Given the description of an element on the screen output the (x, y) to click on. 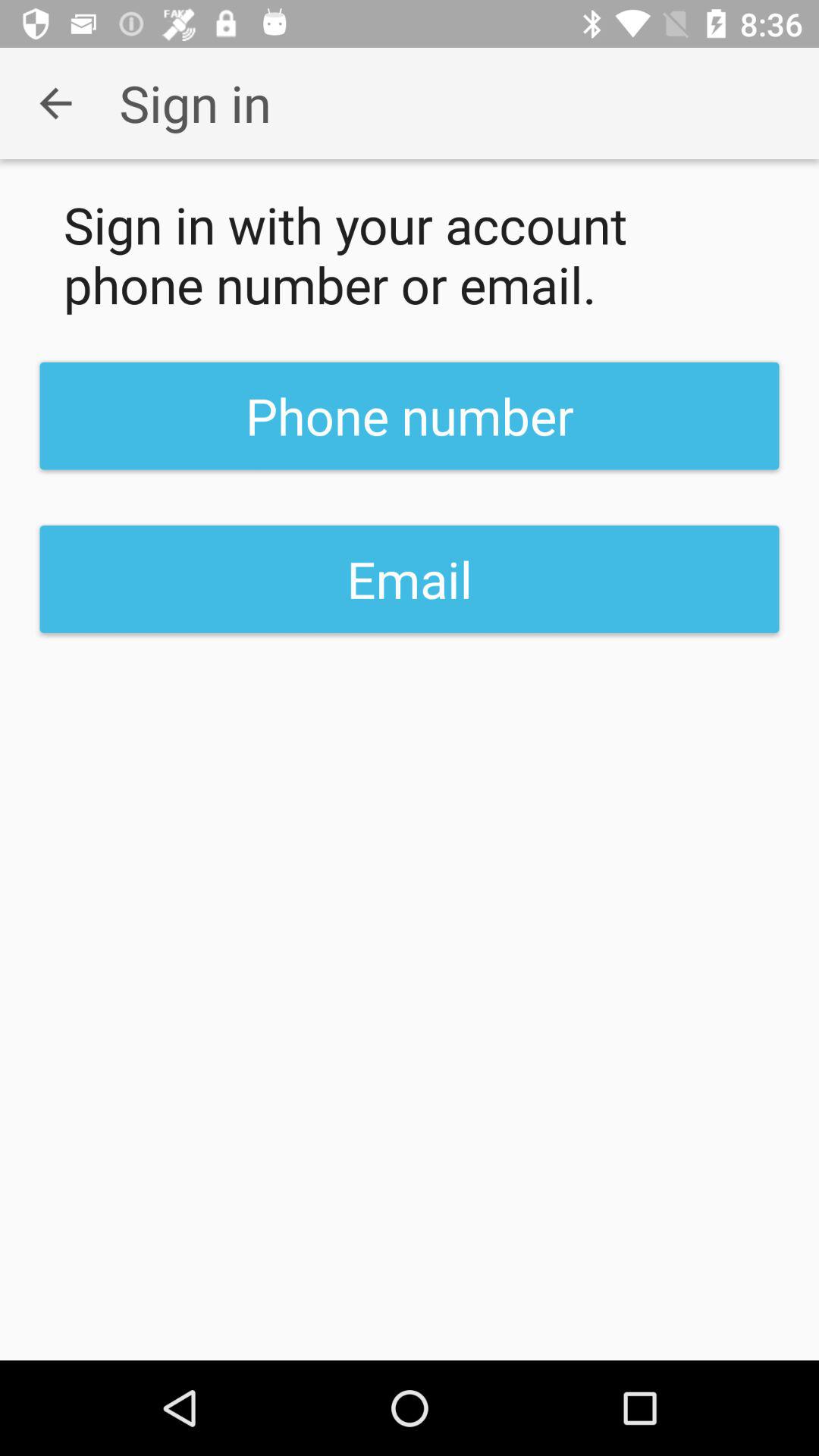
turn on the item above the sign in with item (55, 103)
